Given the description of an element on the screen output the (x, y) to click on. 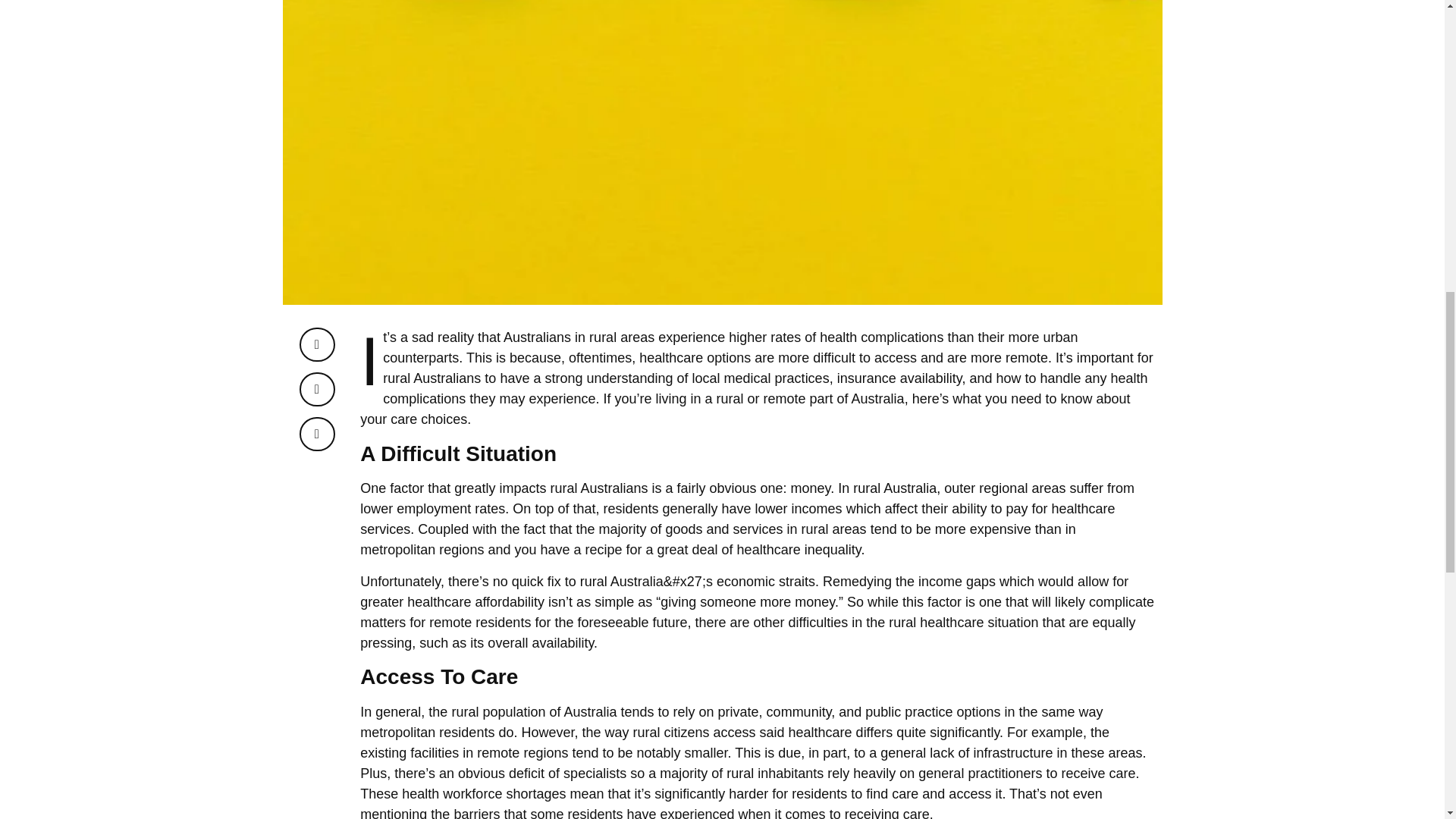
private, community, and public practice options (859, 711)
generally have lower incomes (752, 508)
